Given the description of an element on the screen output the (x, y) to click on. 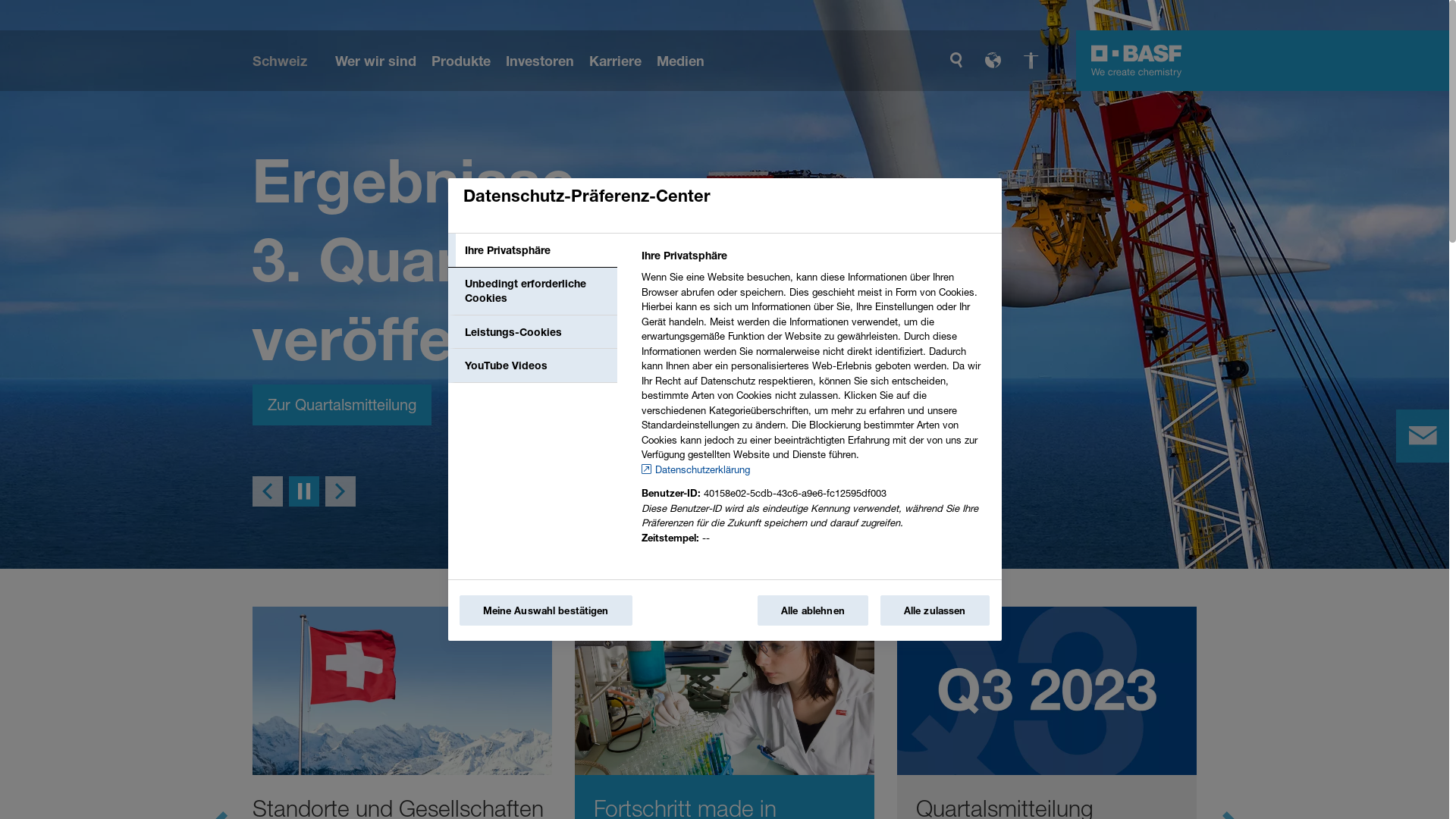
Produkte Element type: text (461, 60)
Zur Quartalsmitteilung Element type: text (340, 403)
Medien Element type: text (680, 60)
teaser-q3-2023.png Element type: hover (1046, 690)
Get in touch Element type: hover (1422, 435)
Barrierefreier Modus Element type: hover (1030, 60)
Karriere Element type: text (616, 60)
5_BASFBasel_ForschungszentrumBasel_1.JPG Element type: hover (724, 690)
Alle ablehnen Element type: text (812, 610)
Wer wir sind Element type: text (377, 60)
Alle zulassen Element type: text (934, 610)
Investoren Element type: text (541, 60)
